Given the description of an element on the screen output the (x, y) to click on. 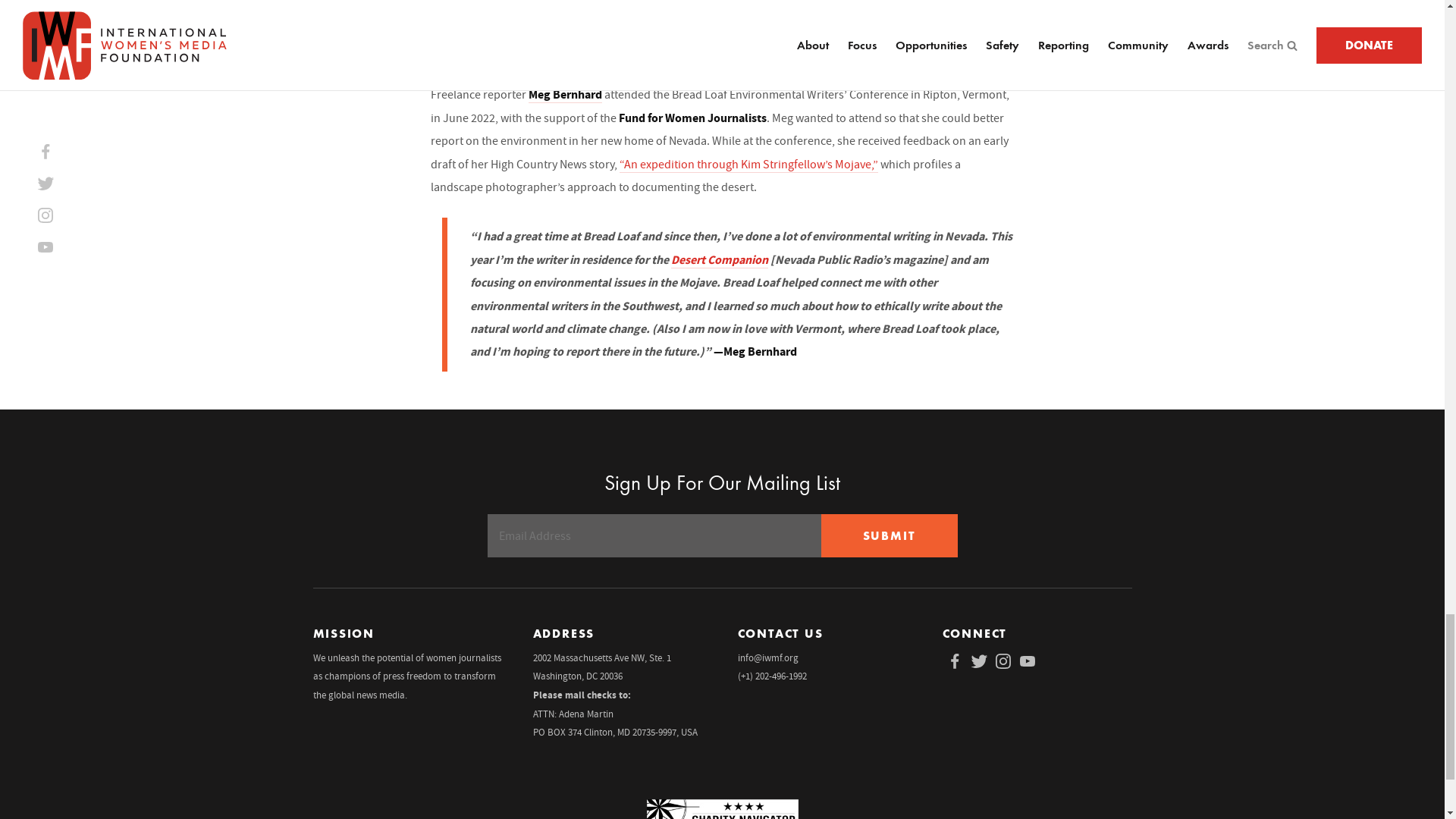
Submit (888, 535)
